Given the description of an element on the screen output the (x, y) to click on. 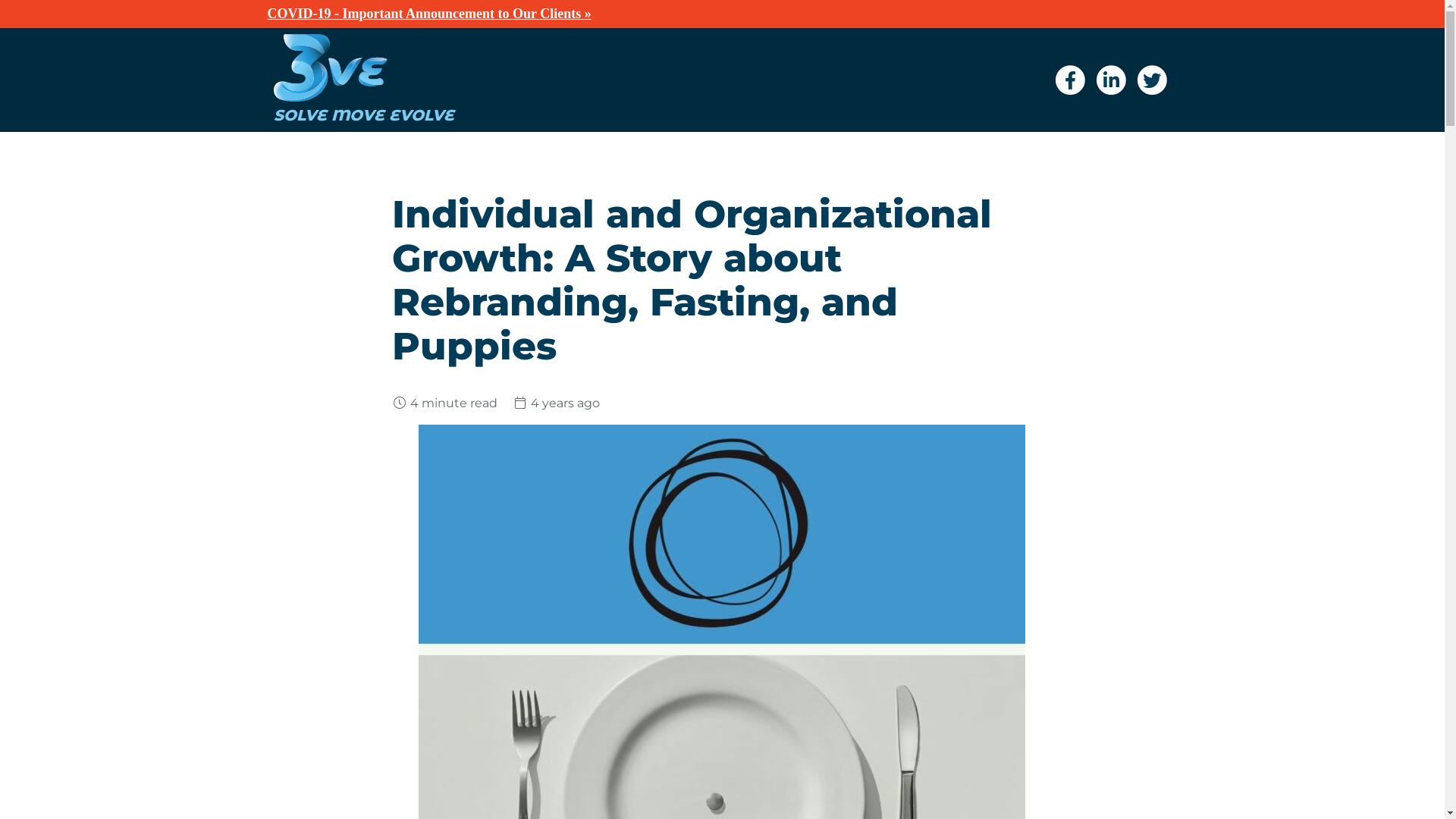
SOLVE MOVE EVOLVE Element type: text (418, 108)
